Given the description of an element on the screen output the (x, y) to click on. 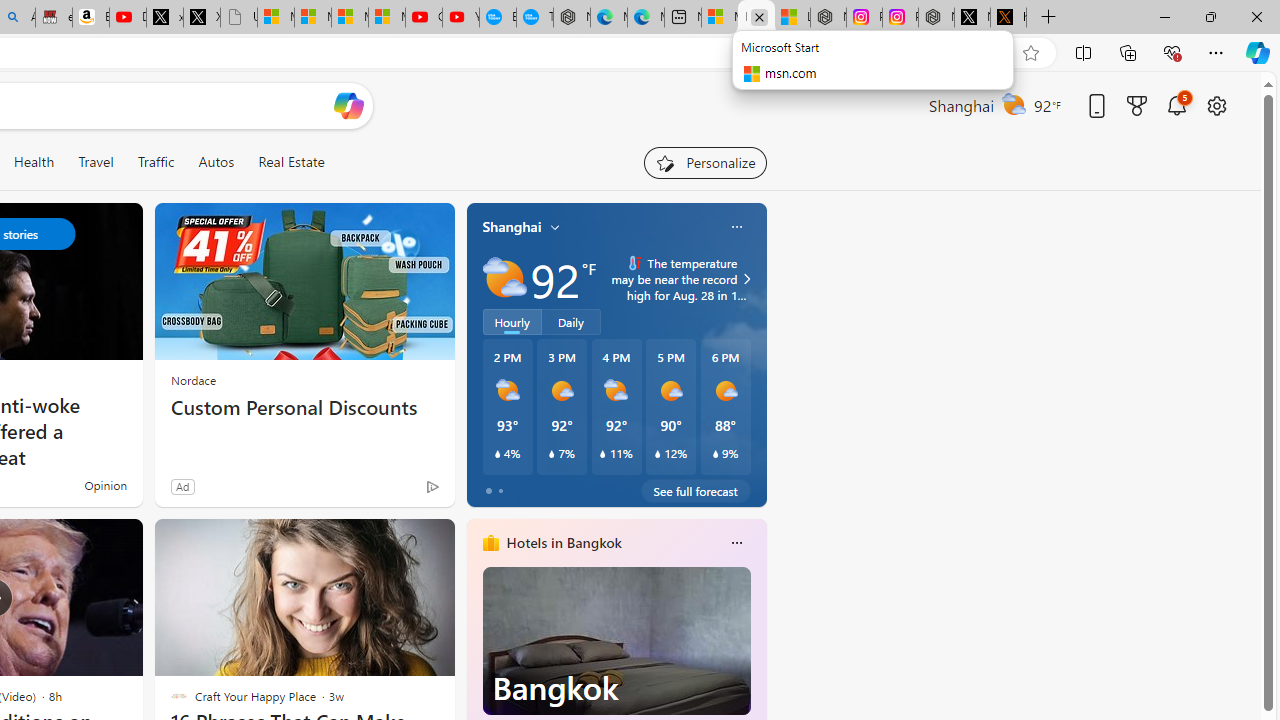
My location (555, 227)
The most popular Google 'how to' searches (534, 17)
Shanghai (511, 227)
Autos (216, 162)
next (756, 670)
Autos (215, 161)
